Given the description of an element on the screen output the (x, y) to click on. 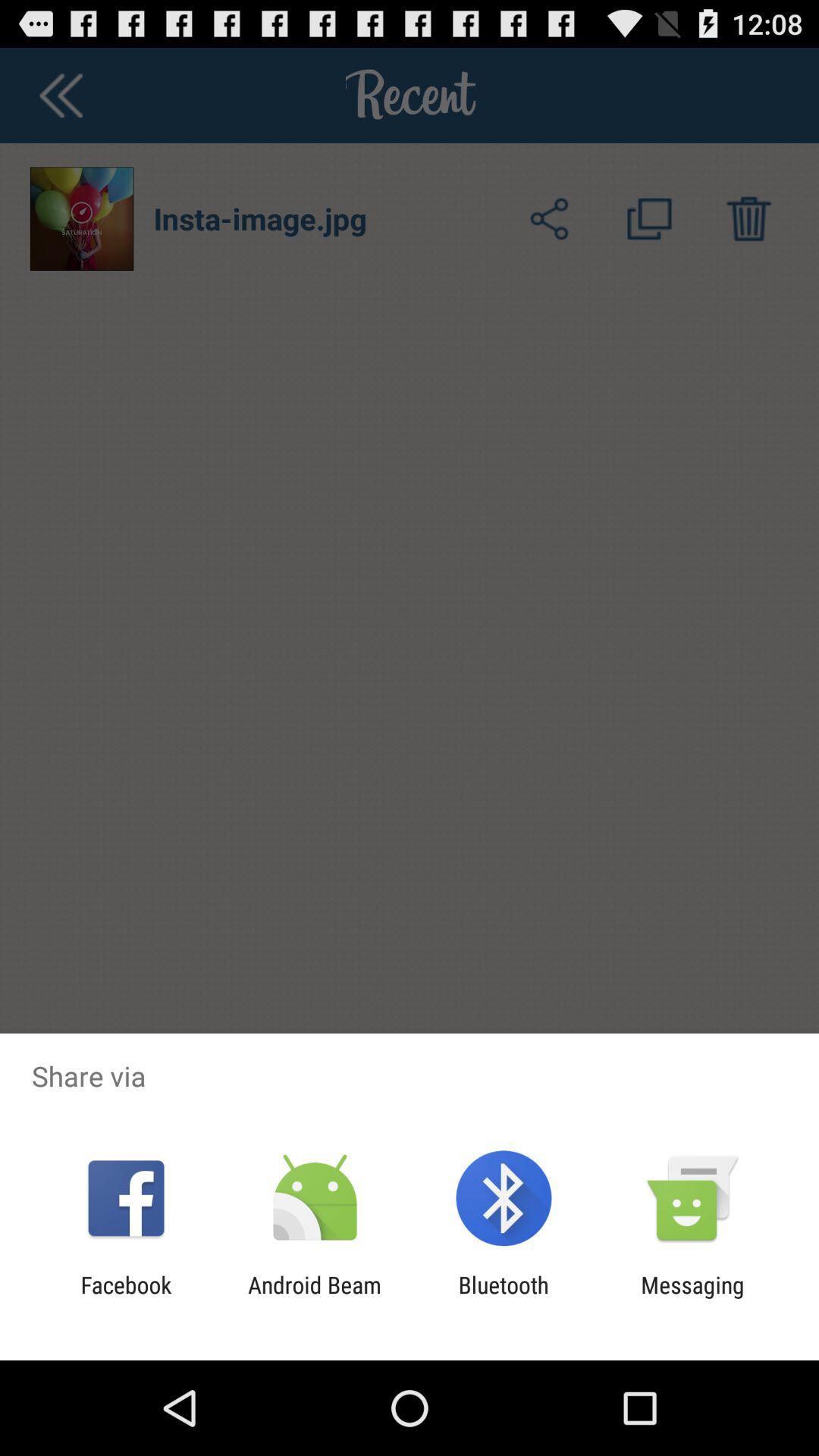
choose the app next to the bluetooth app (692, 1298)
